Given the description of an element on the screen output the (x, y) to click on. 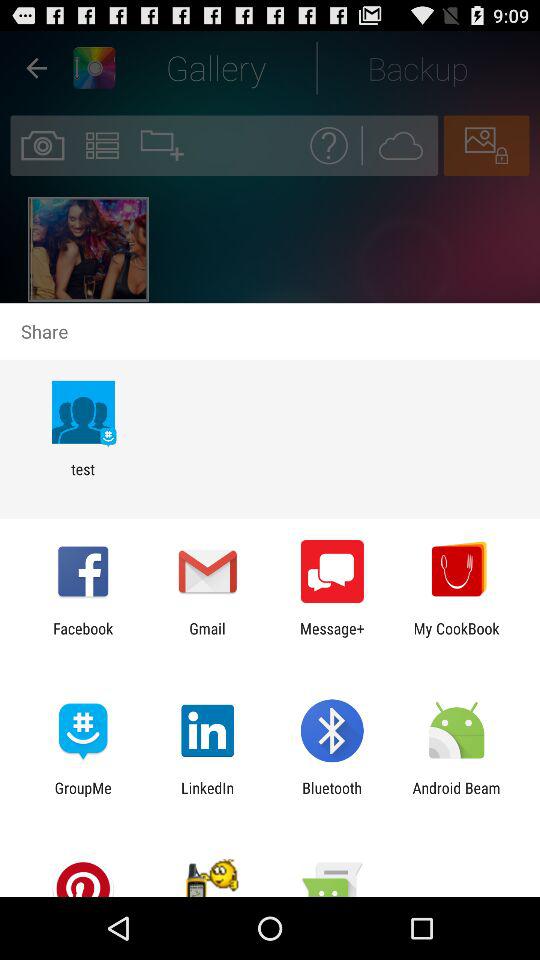
flip until facebook app (83, 637)
